Given the description of an element on the screen output the (x, y) to click on. 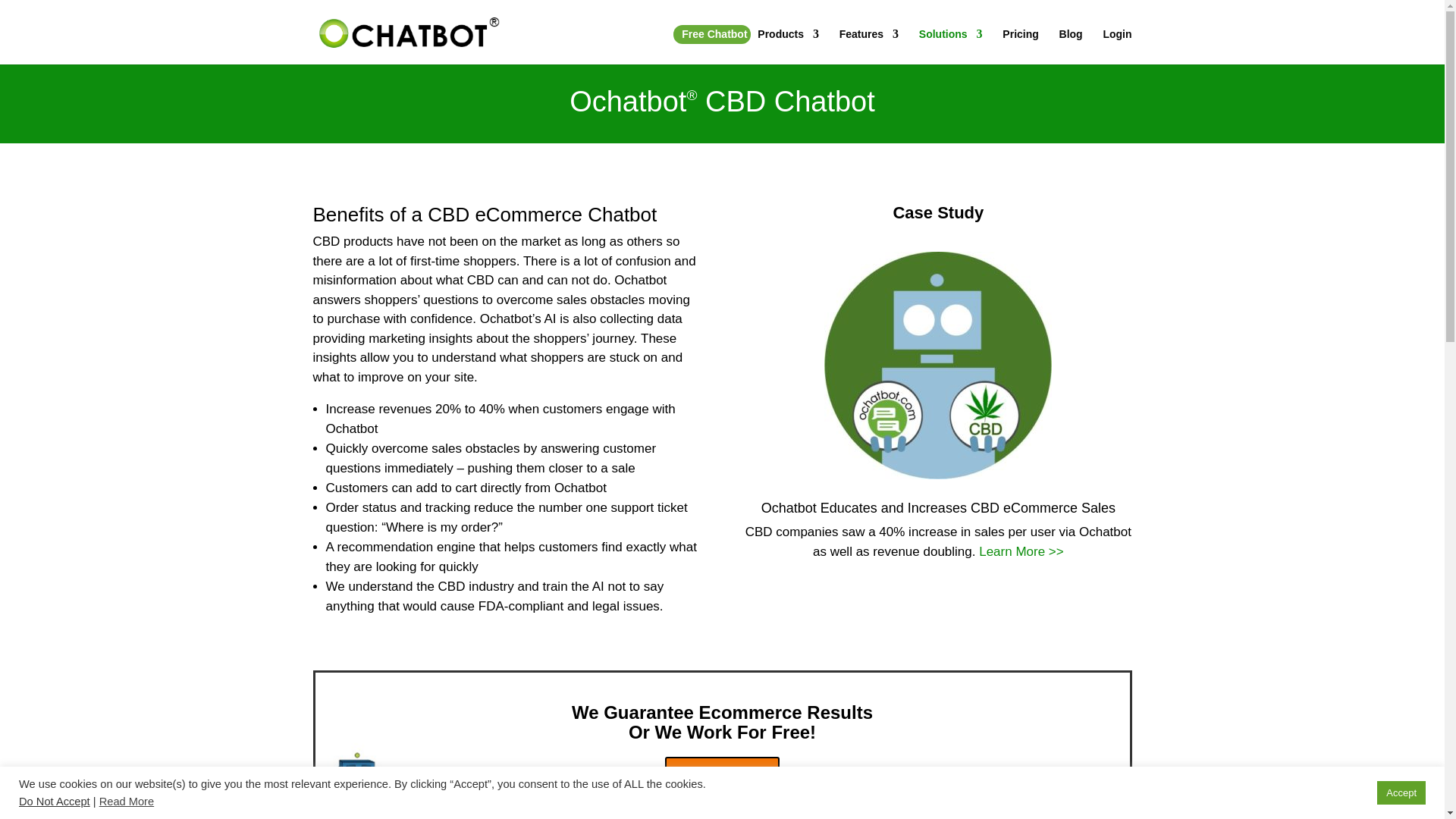
Products (787, 46)
Pricing (1020, 46)
Features (869, 46)
Solutions (950, 46)
Free Chatbot (713, 46)
